Given the description of an element on the screen output the (x, y) to click on. 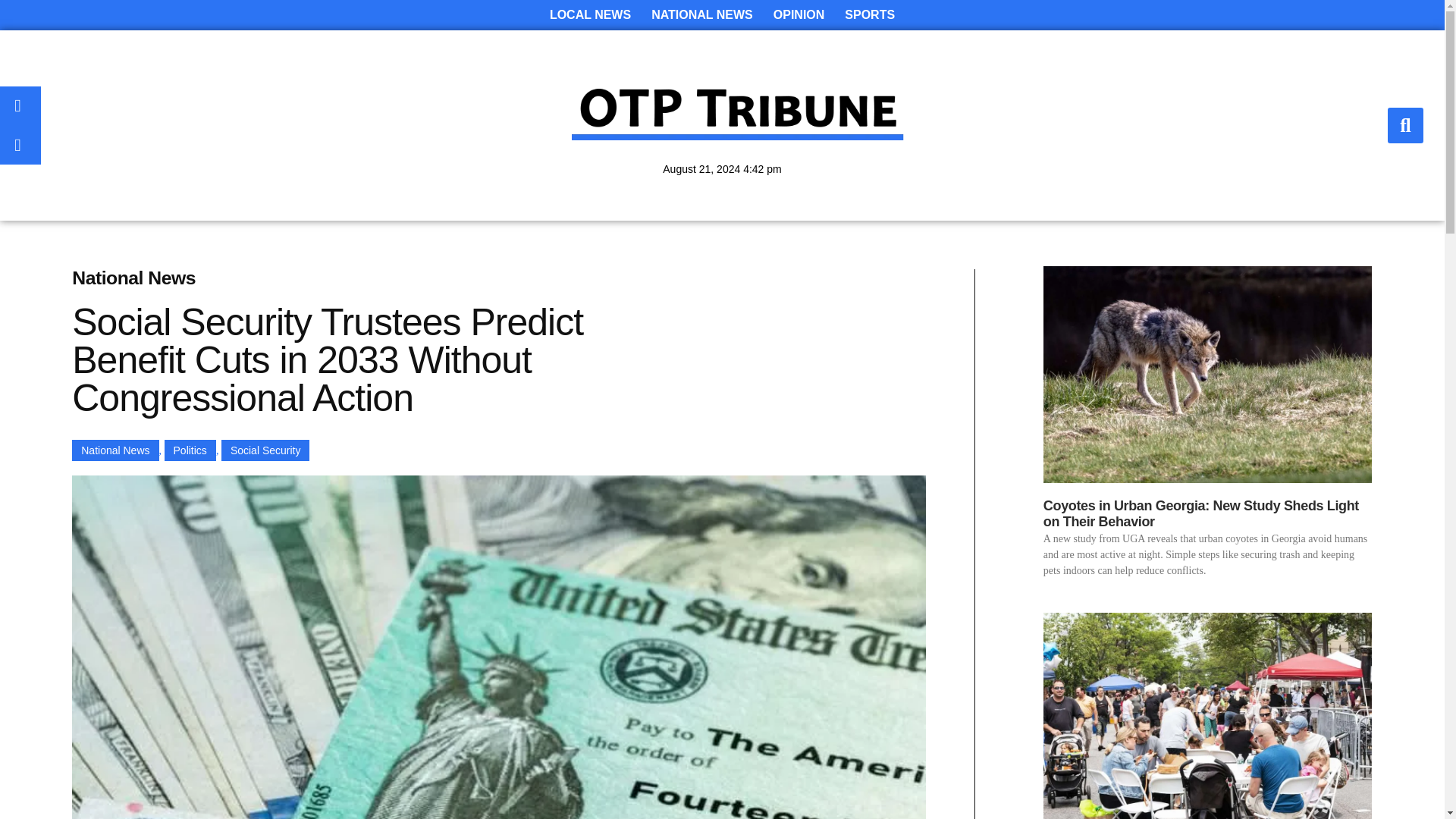
NATIONAL NEWS (701, 15)
OPINION (798, 15)
Politics (189, 450)
Social Security (265, 450)
National News (114, 450)
LOCAL NEWS (590, 15)
SPORTS (869, 15)
